Given the description of an element on the screen output the (x, y) to click on. 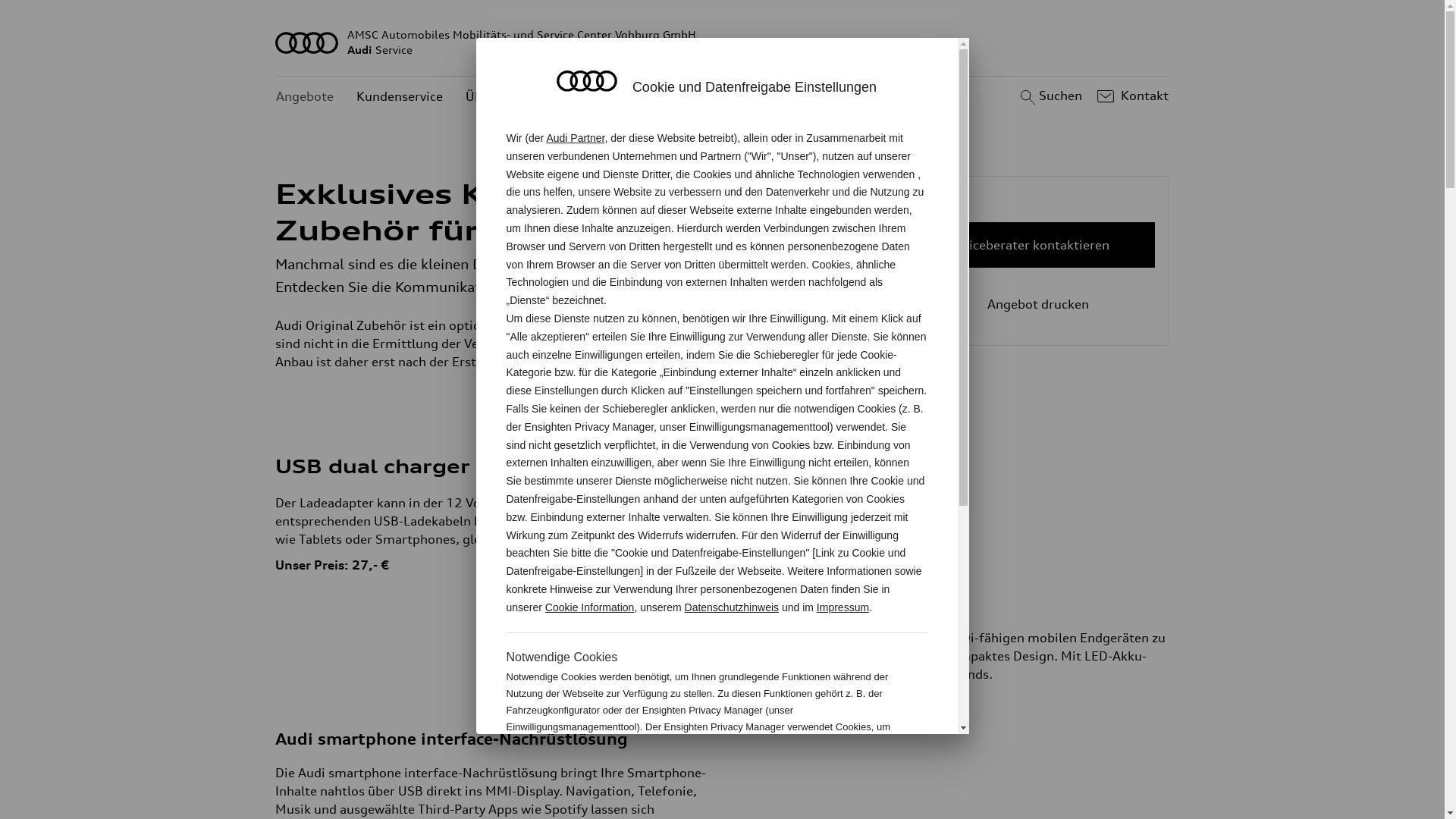
Datenschutzhinweis Element type: text (731, 607)
Cookie Information Element type: text (589, 607)
Angebote Element type: text (304, 96)
Impressum Element type: text (842, 607)
Audi Partner Element type: text (575, 137)
Angebot drucken Element type: text (1026, 303)
Kundenservice Element type: text (399, 96)
Kontakt Element type: text (1130, 96)
Serviceberater kontaktieren Element type: text (1025, 244)
Suchen Element type: text (1049, 96)
Cookie Information Element type: text (847, 776)
